Given the description of an element on the screen output the (x, y) to click on. 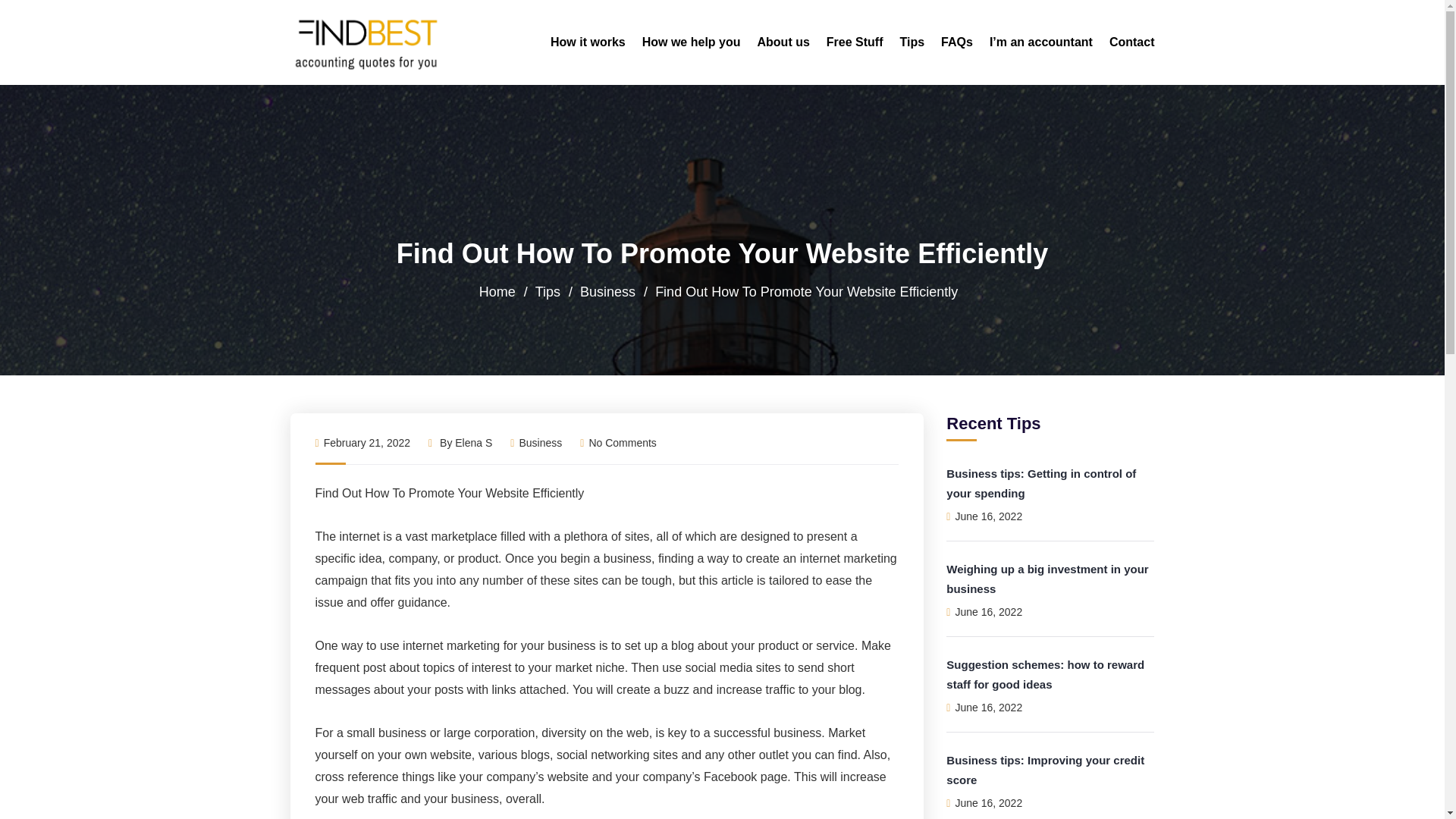
Business tips: Getting in control of your spending (1040, 482)
Business (606, 291)
Elena S (473, 442)
Tips (547, 291)
How we help you (691, 42)
Home (497, 291)
Weighing up a big investment in your business (1047, 578)
Suggestion schemes: how to reward staff for good ideas (1045, 674)
Business tips: Getting in control of your spending (1040, 482)
Suggestion schemes: how to reward staff for good ideas (1045, 674)
